Given the description of an element on the screen output the (x, y) to click on. 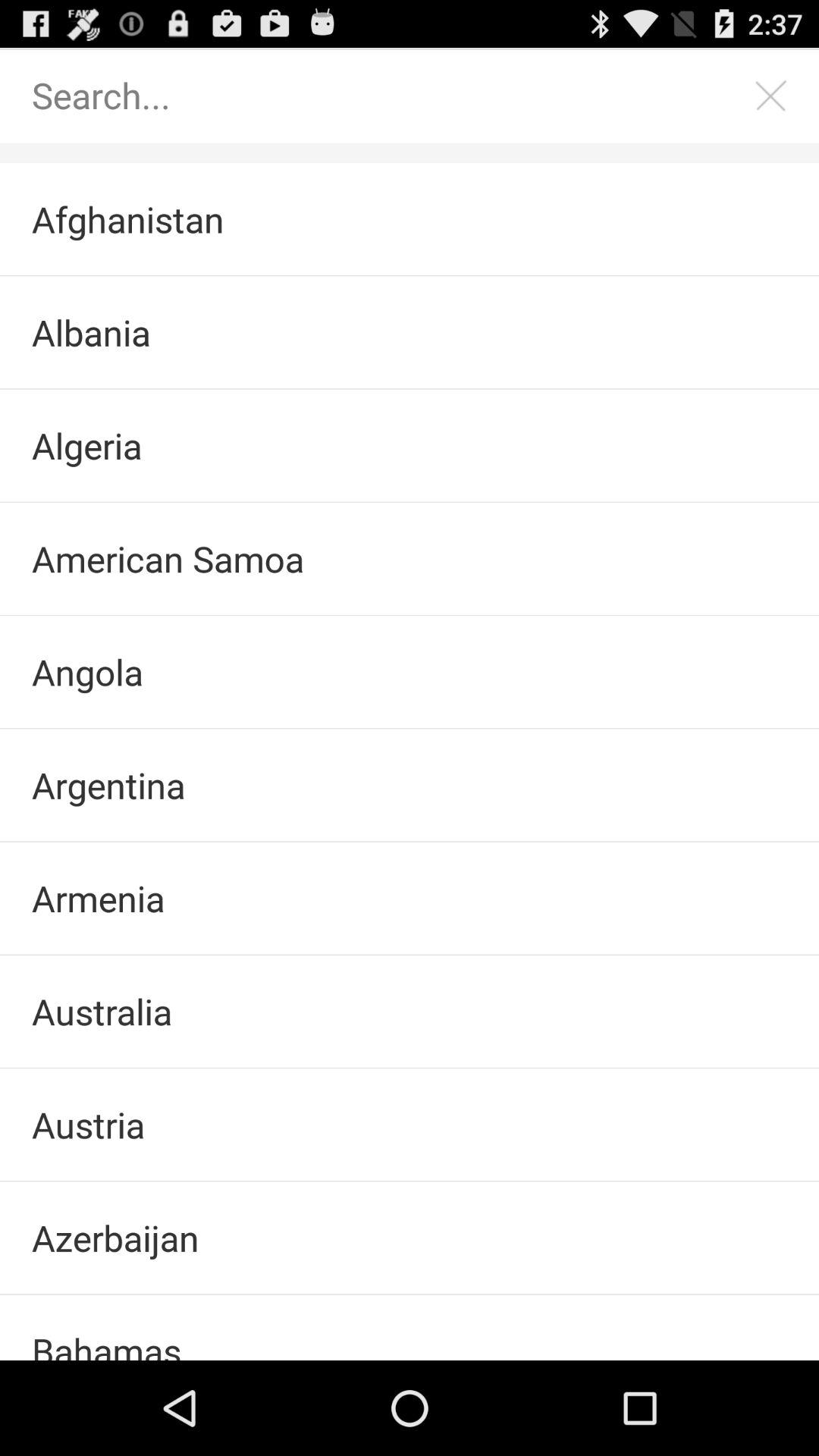
tap argentina checkbox (409, 785)
